Given the description of an element on the screen output the (x, y) to click on. 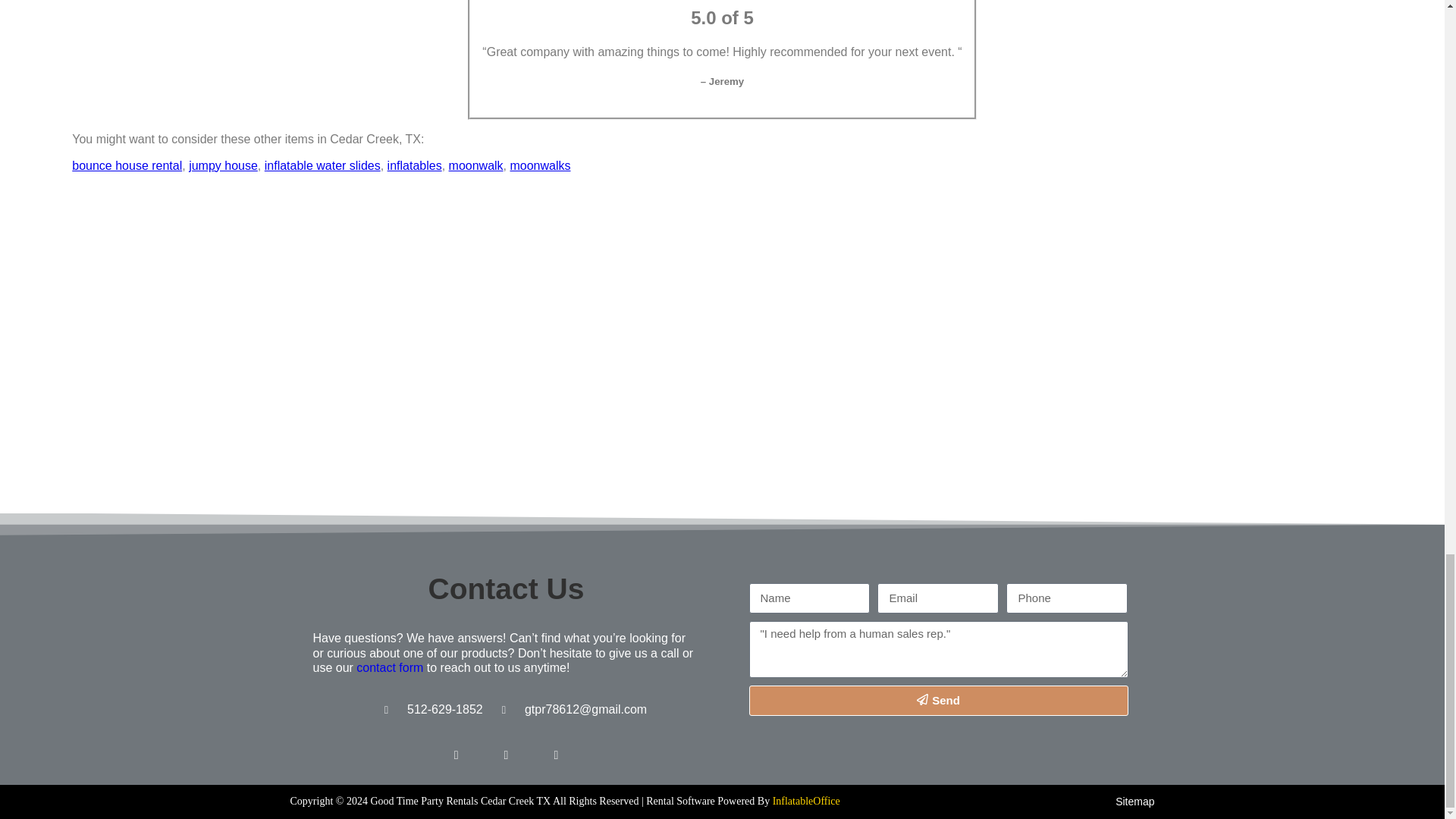
InflatableOffice (806, 800)
contact form (389, 667)
moonwalk (475, 164)
bounce house rental (126, 164)
512-629-1852 (445, 708)
moonwalks (539, 164)
jumpy house (223, 164)
inflatables (414, 164)
Sitemap (1134, 801)
inflatable water slides (322, 164)
Send (938, 700)
